Given the description of an element on the screen output the (x, y) to click on. 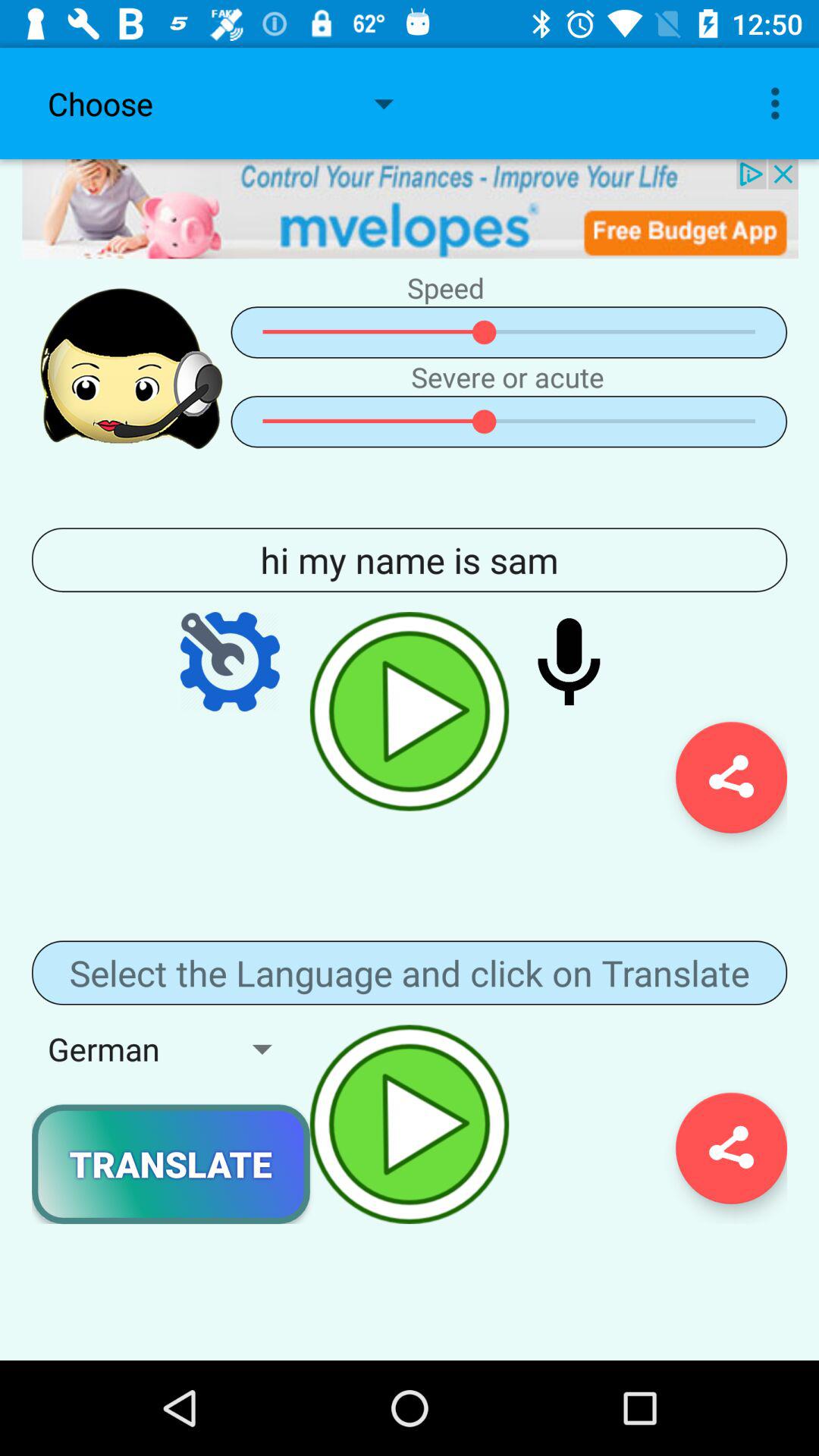
play phrase (409, 711)
